Given the description of an element on the screen output the (x, y) to click on. 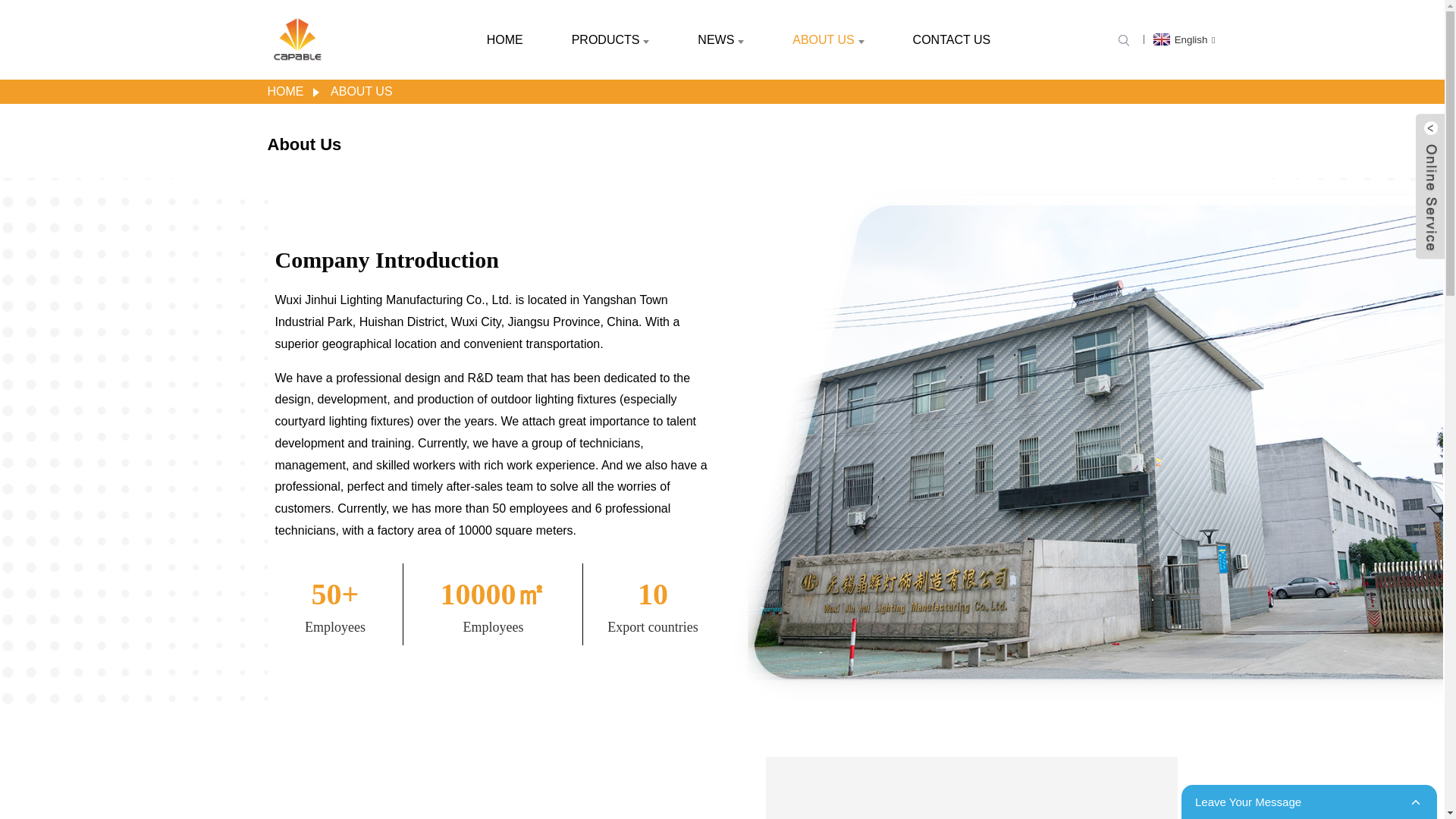
ABOUT US (828, 39)
English (1182, 39)
NEWS (720, 39)
CONTACT US (952, 39)
HOME (504, 39)
PRODUCTS (610, 39)
